Given the description of an element on the screen output the (x, y) to click on. 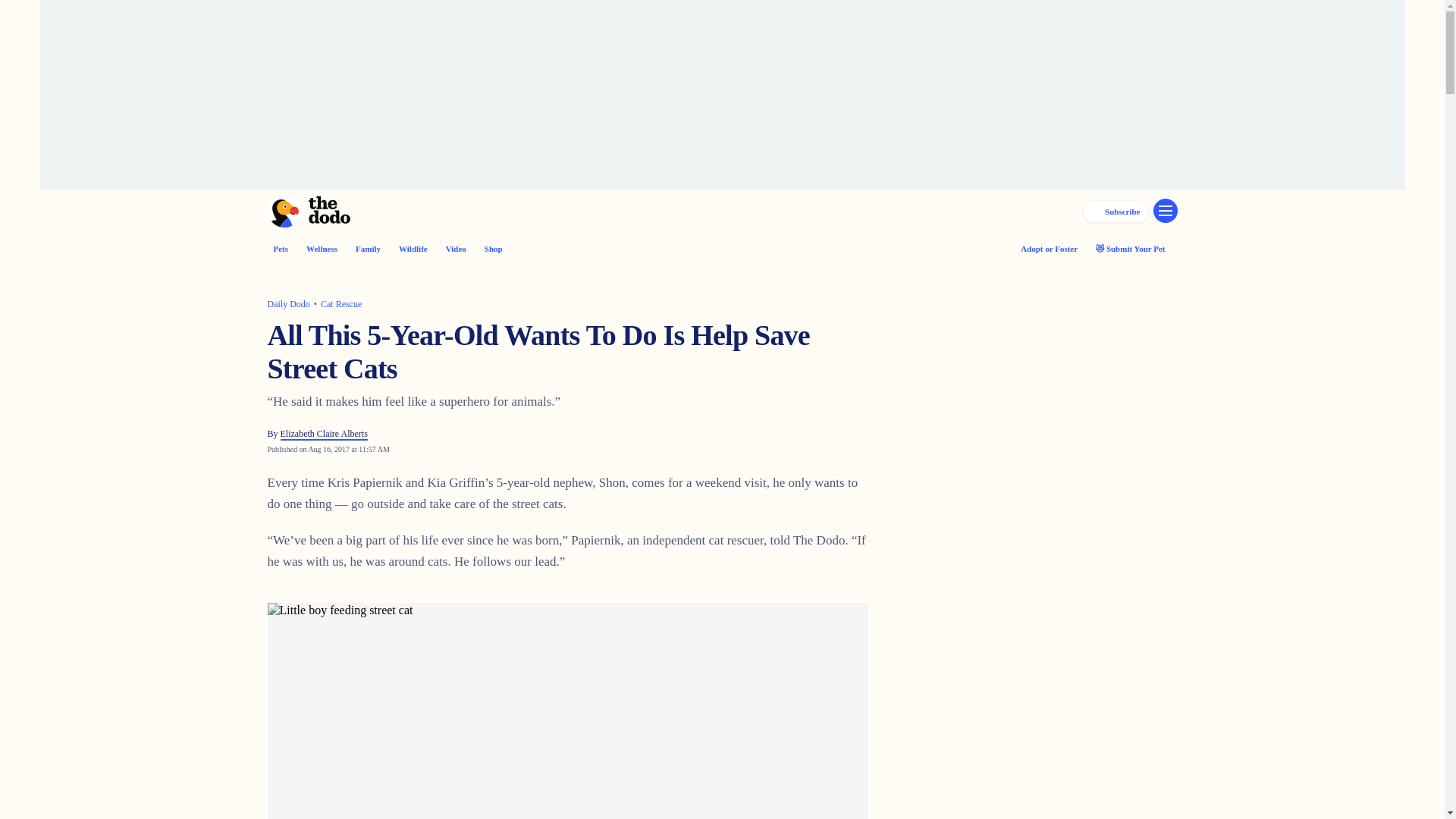
Family (367, 248)
Pets (280, 248)
The Dodo (307, 210)
Wildlife (413, 248)
Subscribe (1115, 205)
Cat Rescue (340, 303)
Go to Navigation (1164, 210)
Wellness (321, 248)
Daily Dodo (287, 303)
Elizabeth Claire Alberts (324, 434)
